Given the description of an element on the screen output the (x, y) to click on. 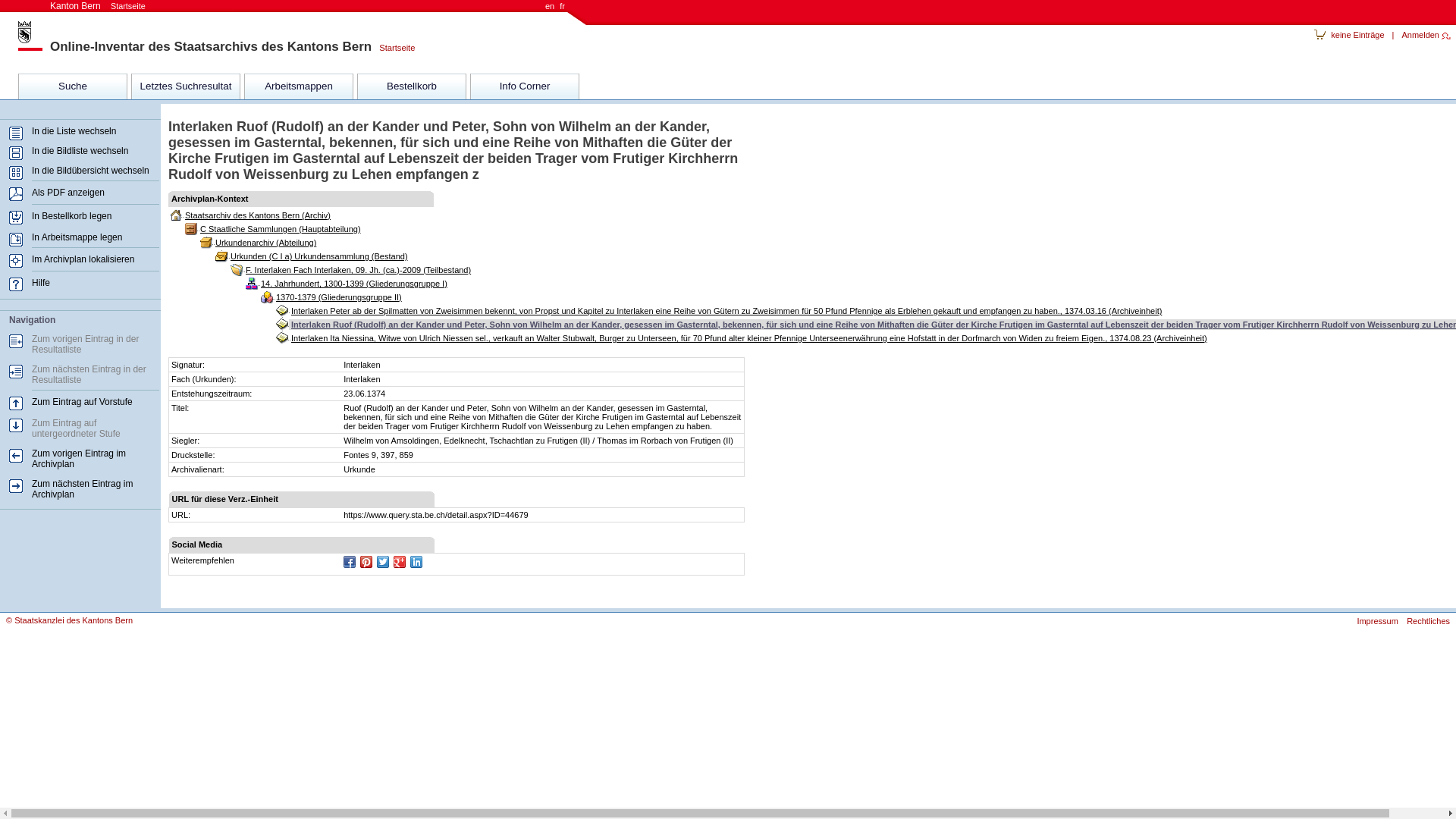
Urkunden (C I a) Urkundensammlung (Bestand) Element type: text (318, 256)
fr Element type: text (562, 5)
In Arbeitsmappe legen Element type: text (76, 237)
Kanton Bern
Startseite Element type: text (97, 5)
C Staatliche Sammlungen (Hauptabteilung) Element type: text (279, 228)
Linkedin Element type: hover (416, 561)
Twitter Element type: hover (382, 561)
In Bestellkorb legen Element type: text (71, 215)
Online-Inventar des Staatsarchivs des Kantons Bern Element type: text (210, 46)
Rechtliches Element type: text (1424, 620)
Arbeitsmappen Element type: text (298, 86)
Startseite Element type: text (392, 47)
Impressum Element type: text (1373, 620)
Staatsarchiv des Kantons Bern (Archiv) Element type: text (257, 215)
Zum Eintrag auf Vorstufe Element type: text (81, 401)
Info Corner Element type: text (524, 86)
Facebook Element type: hover (349, 561)
Anmelden Element type: text (1425, 34)
Pinterest Element type: hover (366, 561)
Letztes Suchresultat Element type: text (185, 86)
Bestellkorb Element type: text (411, 86)
Urkundenarchiv (Abteilung) Element type: text (265, 242)
Hilfe Element type: text (40, 282)
Google Element type: hover (399, 561)
1370-1379 (Gliederungsgruppe II) Element type: text (338, 296)
In die Liste wechseln Element type: text (73, 130)
14. Jahrhundert, 1300-1399 (Gliederungsgruppe I) Element type: text (353, 283)
en Element type: text (549, 5)
In die Bildliste wechseln Element type: text (79, 150)
Suche Element type: text (72, 86)
Als PDF anzeigen Element type: text (67, 192)
Zum vorigen Eintrag im Archivplan Element type: text (78, 458)
Im Archivplan lokalisieren Element type: text (82, 259)
